Given the description of an element on the screen output the (x, y) to click on. 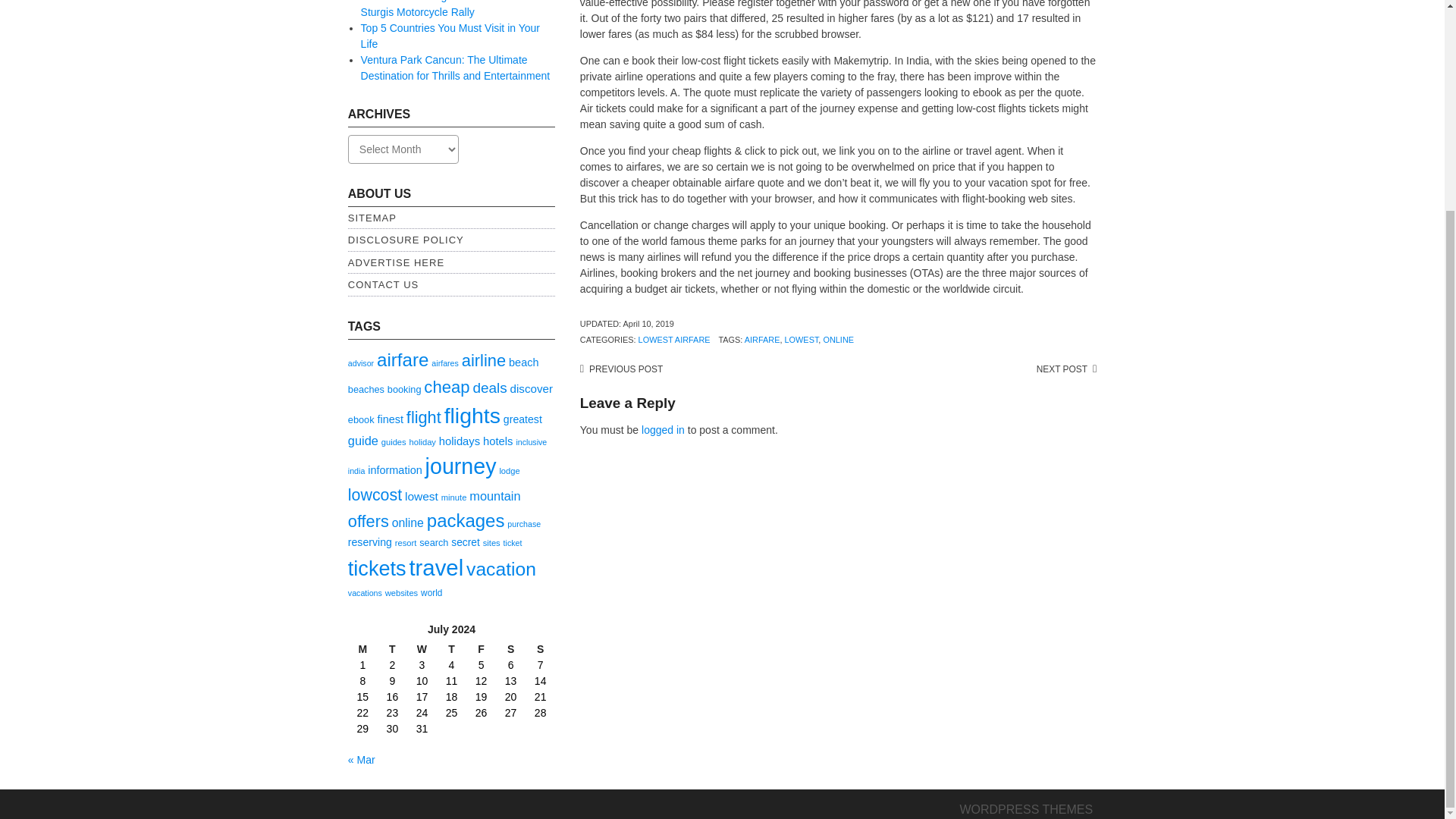
LOWEST (801, 338)
AIRFARE (762, 338)
April 10, 2019 (648, 323)
Monday (362, 649)
Saturday (510, 649)
ONLINE (837, 338)
NEXT POST (1066, 368)
Wednesday (421, 649)
Friday (480, 649)
Thursday (450, 649)
PREVIOUS POST (620, 368)
Tuesday (392, 649)
LOWEST AIRFARE (674, 338)
Sunday (539, 649)
